Given the description of an element on the screen output the (x, y) to click on. 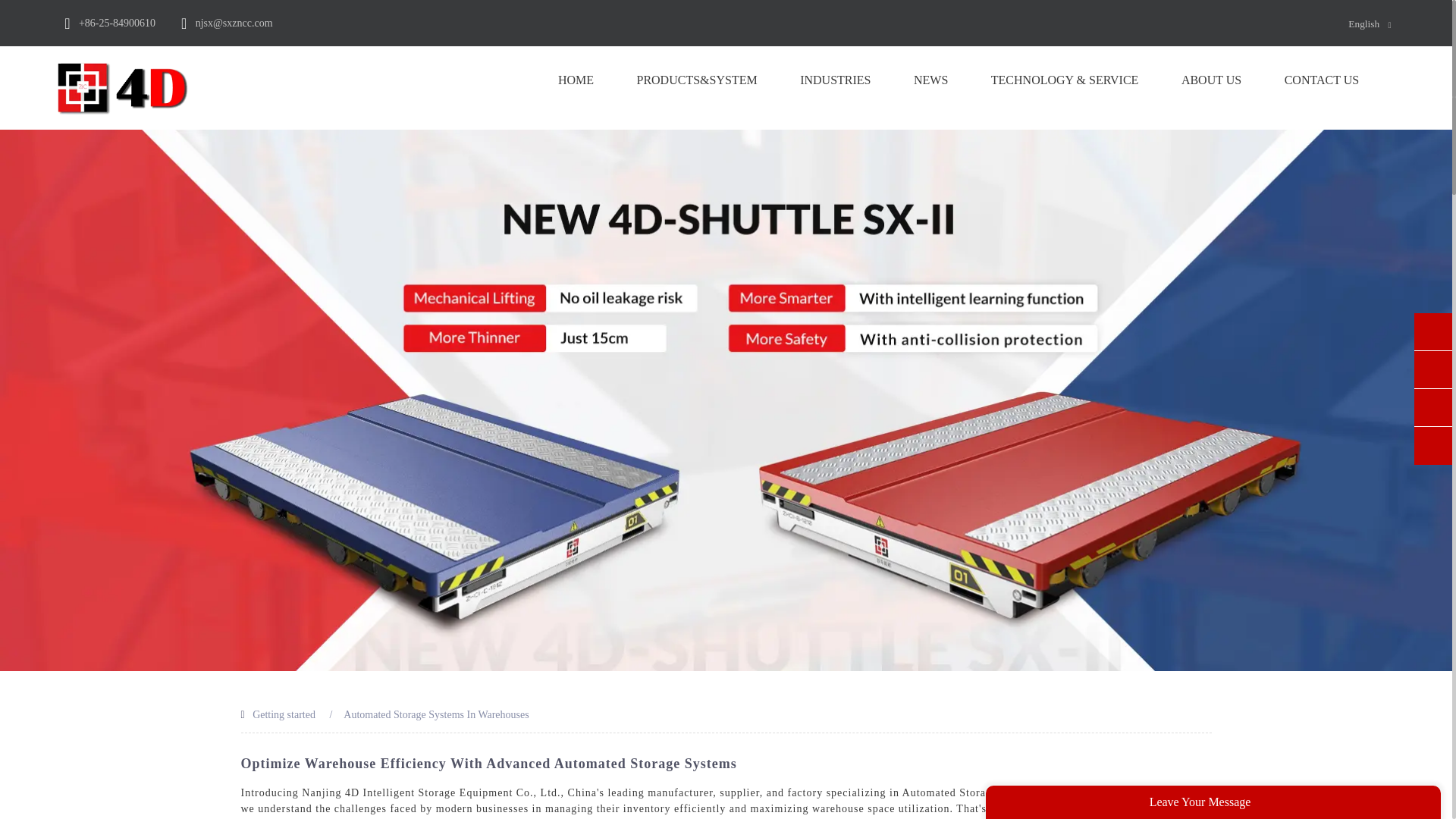
English (1350, 23)
Getting started (283, 714)
INDUSTRIES (834, 80)
Automated Storage Systems In Warehouses (435, 714)
ABOUT US (1210, 80)
CONTACT US (1321, 80)
